Given the description of an element on the screen output the (x, y) to click on. 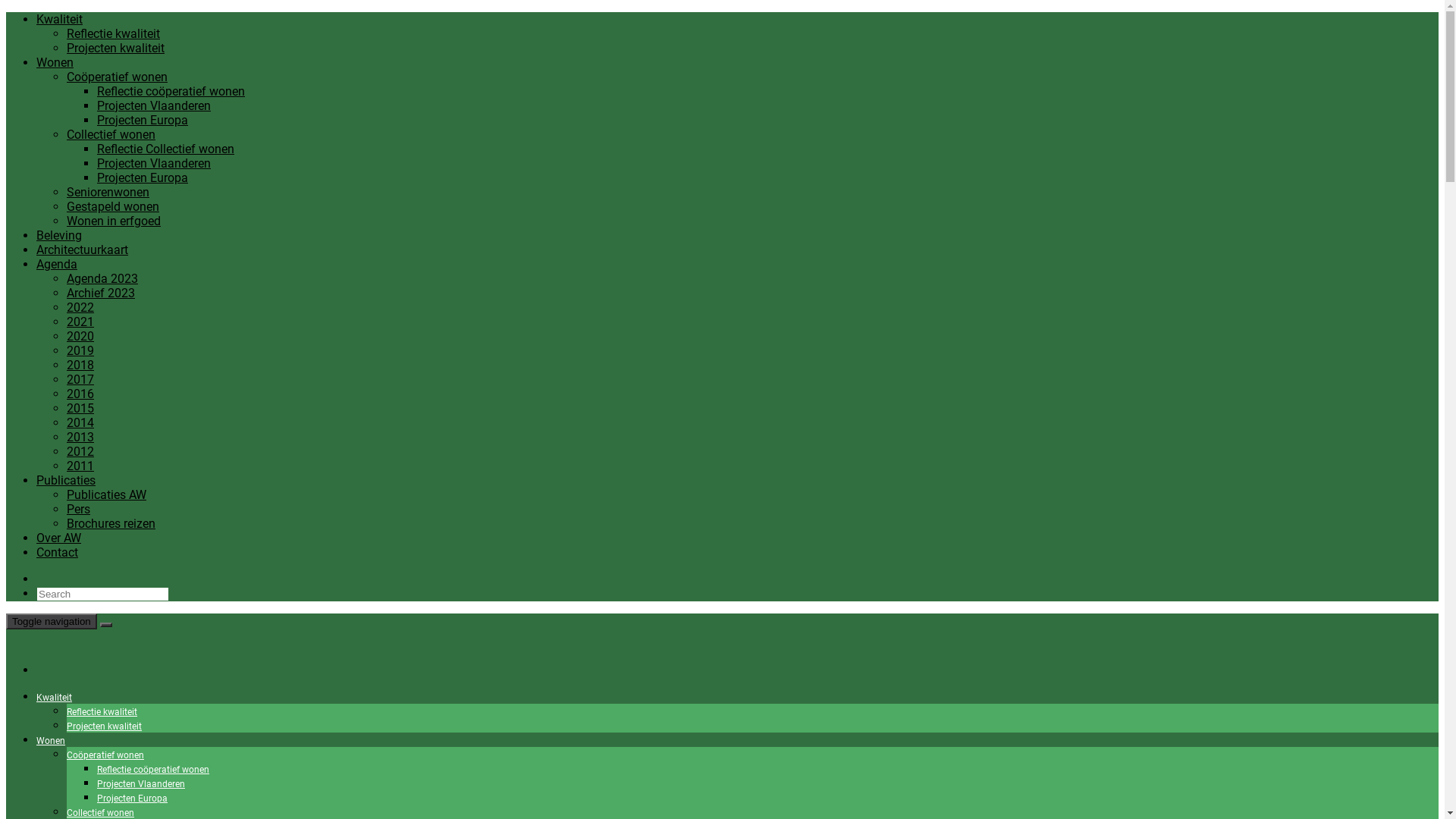
2021 Element type: text (80, 321)
Projecten Europa Element type: text (142, 177)
Projecten Europa Element type: text (142, 119)
Projecten kwaliteit Element type: text (115, 47)
2017 Element type: text (80, 379)
Wonen Element type: text (54, 62)
2018 Element type: text (80, 364)
2015 Element type: text (80, 408)
2016 Element type: text (80, 393)
Reflectie Collectief wonen Element type: text (165, 148)
Publicaties AW Element type: text (106, 494)
Brochures reizen Element type: text (110, 523)
Projecten Europa Element type: text (132, 798)
Architectuurkaart Element type: text (82, 249)
Kwaliteit Element type: text (59, 19)
2011 Element type: text (80, 465)
Wonen in erfgoed Element type: text (113, 220)
2019 Element type: text (80, 350)
Beleving Element type: text (58, 235)
Agenda 2023 Element type: text (102, 278)
Gestapeld wonen Element type: text (112, 206)
Reflectie kwaliteit Element type: text (113, 33)
Collectief wonen Element type: text (110, 134)
Archief 2023 Element type: text (100, 292)
Pers Element type: text (78, 509)
Projecten Vlaanderen Element type: text (153, 163)
Seniorenwonen Element type: text (107, 192)
Collectief wonen Element type: text (100, 812)
2022 Element type: text (80, 307)
Projecten kwaliteit Element type: text (103, 726)
2014 Element type: text (80, 422)
Contact Element type: text (57, 552)
Over AW Element type: text (58, 537)
Reflectie kwaliteit Element type: text (101, 711)
2012 Element type: text (80, 451)
2020 Element type: text (80, 336)
2013 Element type: text (80, 436)
Publicaties Element type: text (65, 480)
Toggle navigation Element type: text (51, 621)
Projecten Vlaanderen Element type: text (153, 105)
Wonen Element type: text (50, 740)
Agenda Element type: text (56, 264)
Projecten Vlaanderen Element type: text (141, 783)
Kwaliteit Element type: text (54, 697)
